Given the description of an element on the screen output the (x, y) to click on. 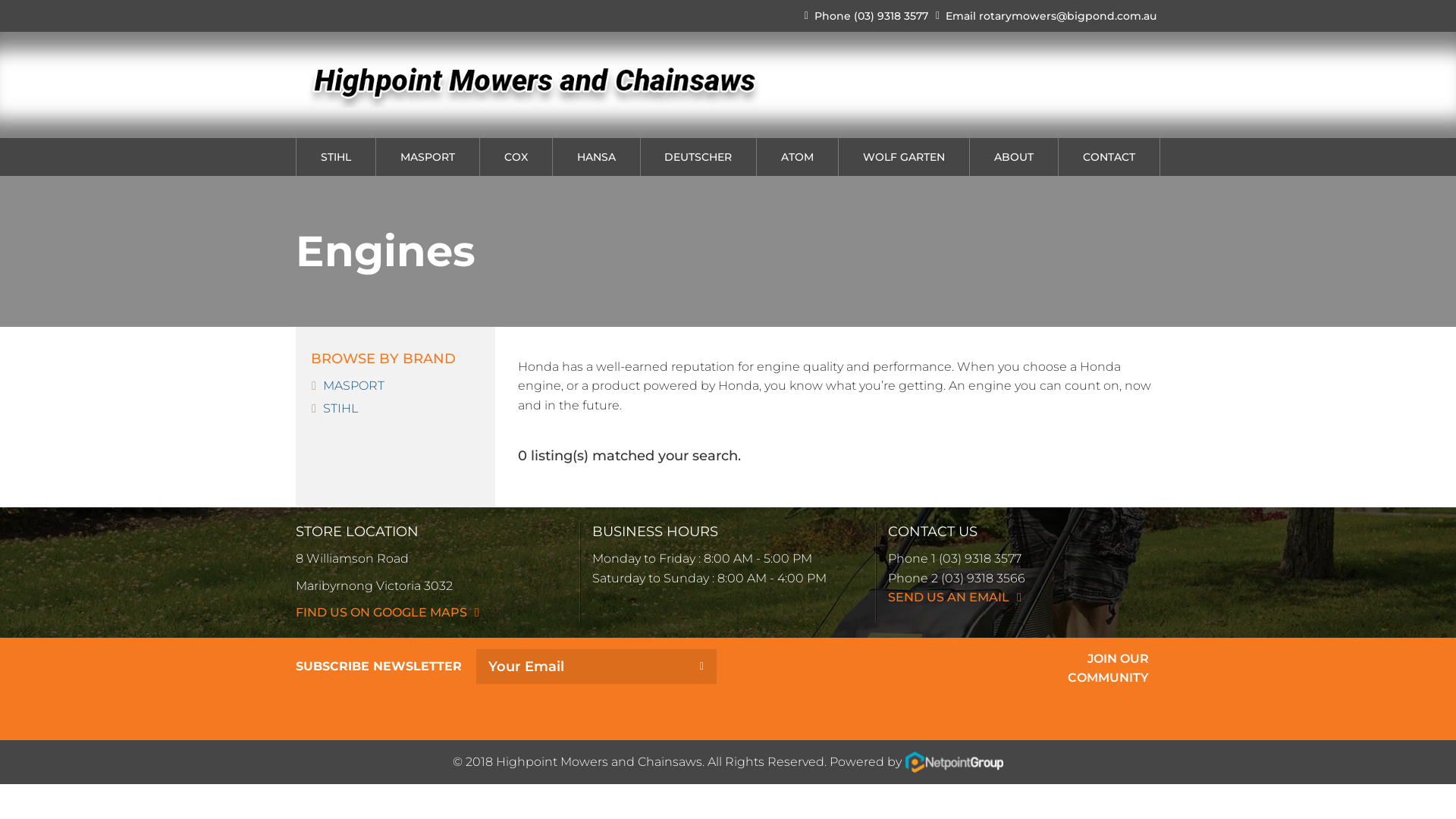
STIHL Element type: text (335, 156)
Highpoint Mowers and Chainsaws Element type: text (598, 760)
(03) 9318 3566 Element type: text (983, 578)
(03) 9318 3577 Element type: text (979, 558)
rotarymowers@bigpond.com.au Element type: text (1067, 15)
HANSA Element type: text (596, 156)
MASPORT Element type: text (353, 385)
(03) 9318 3577 Element type: text (890, 15)
FIND US ON GOOGLE MAPS Element type: text (387, 612)
ABOUT Element type: text (1013, 156)
CONTACT Element type: text (1108, 156)
MASPORT Element type: text (427, 156)
ATOM Element type: text (797, 156)
WOLF GARTEN Element type: text (903, 156)
COX Element type: text (515, 156)
STIHL Element type: text (340, 408)
SEND US AN EMAIL Element type: text (954, 596)
SUBMIT Element type: text (701, 666)
DEUTSCHER Element type: text (697, 156)
